Given the description of an element on the screen output the (x, y) to click on. 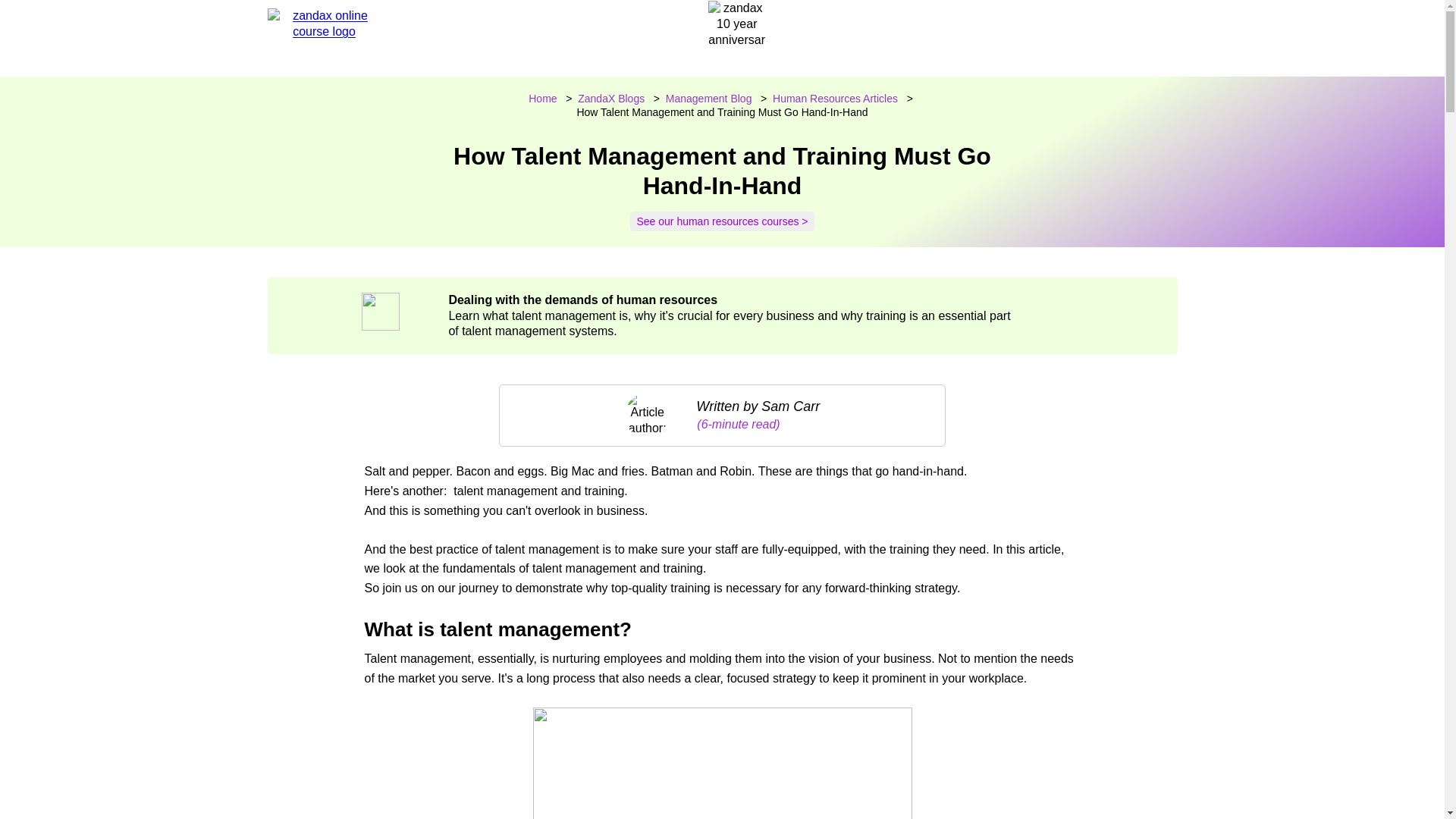
Management Blog (708, 98)
Human Resources Articles (835, 98)
ZandaX Blogs (611, 98)
Home (542, 98)
